Given the description of an element on the screen output the (x, y) to click on. 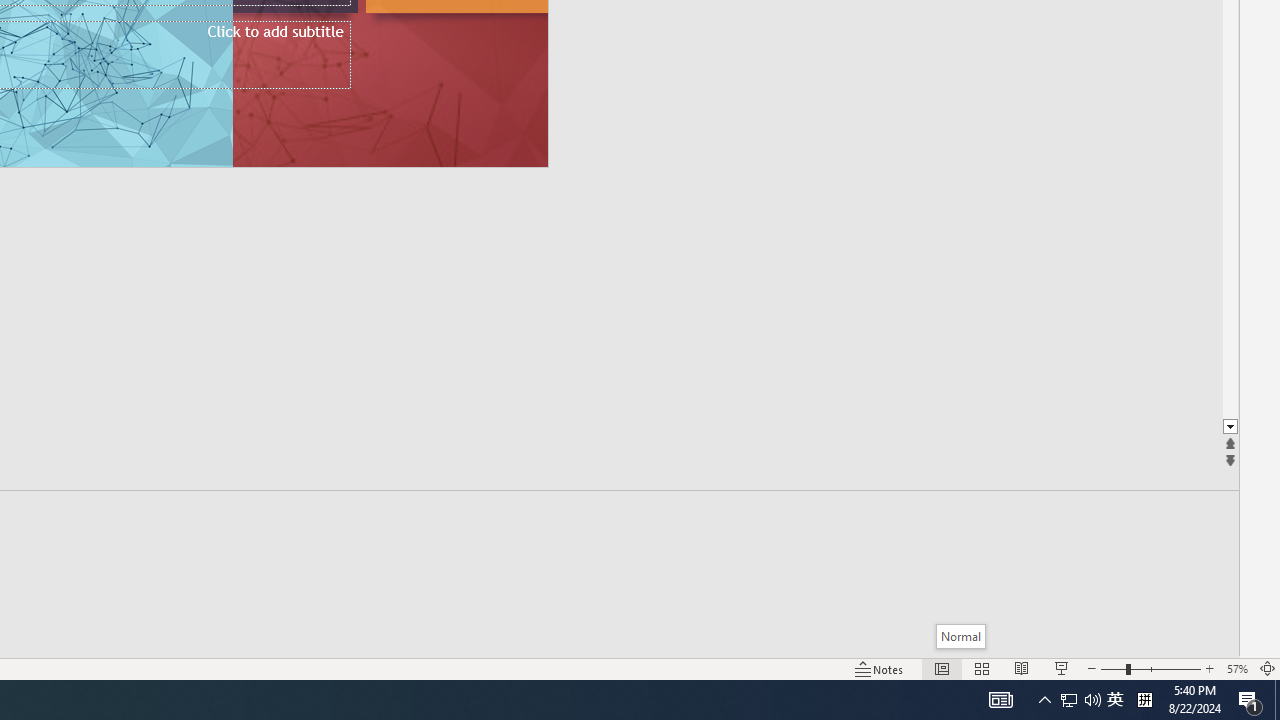
Zoom 57% (1236, 668)
